Given the description of an element on the screen output the (x, y) to click on. 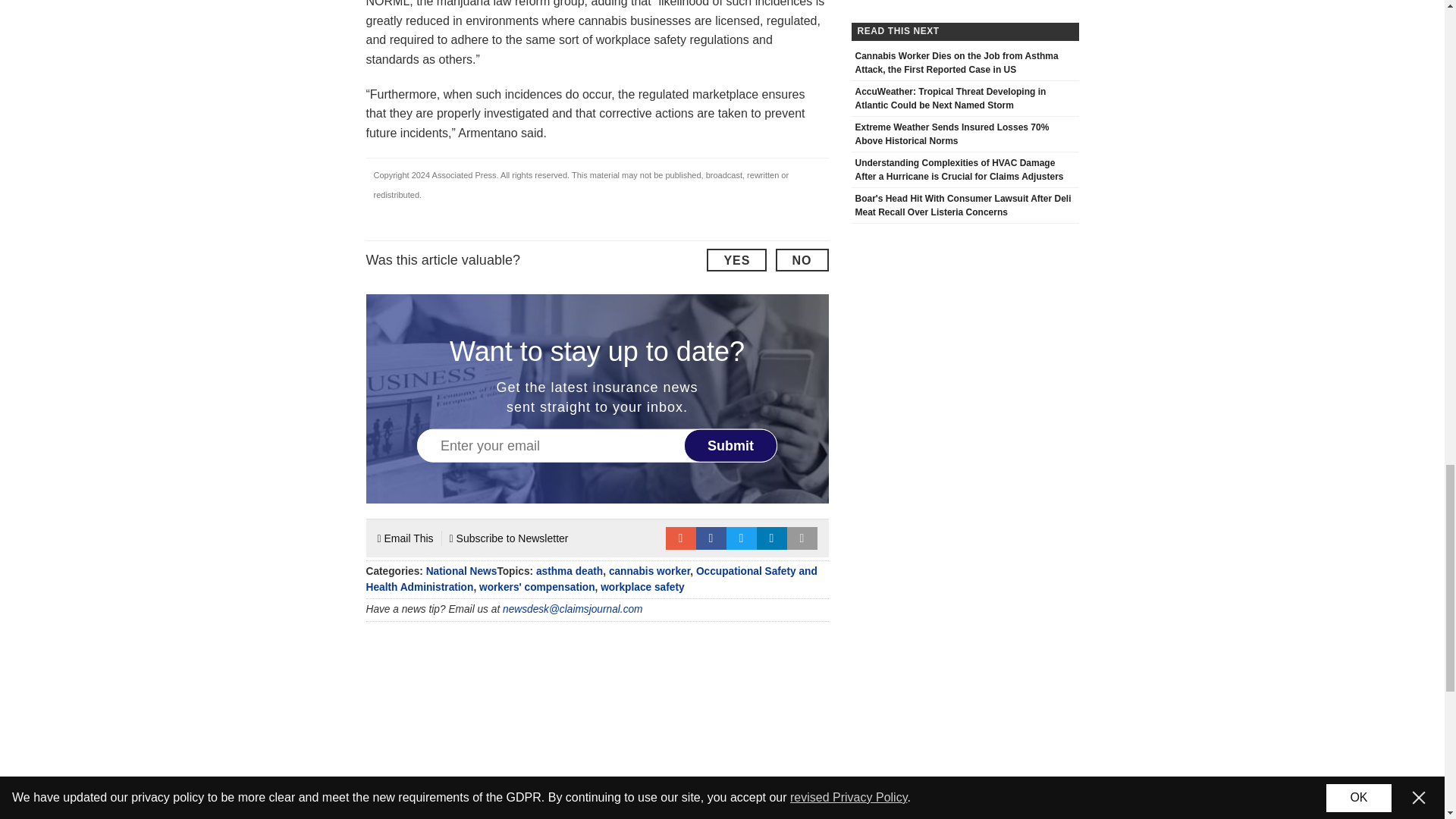
Post to Facebook. (710, 538)
YES (736, 259)
Print Article (801, 538)
Email to a friend (680, 538)
Share on Twitter. (741, 538)
NO (801, 259)
Submit (730, 444)
Share on LinkedIn. (772, 538)
Email This (405, 538)
Subscribe to Newsletter (509, 538)
